Given the description of an element on the screen output the (x, y) to click on. 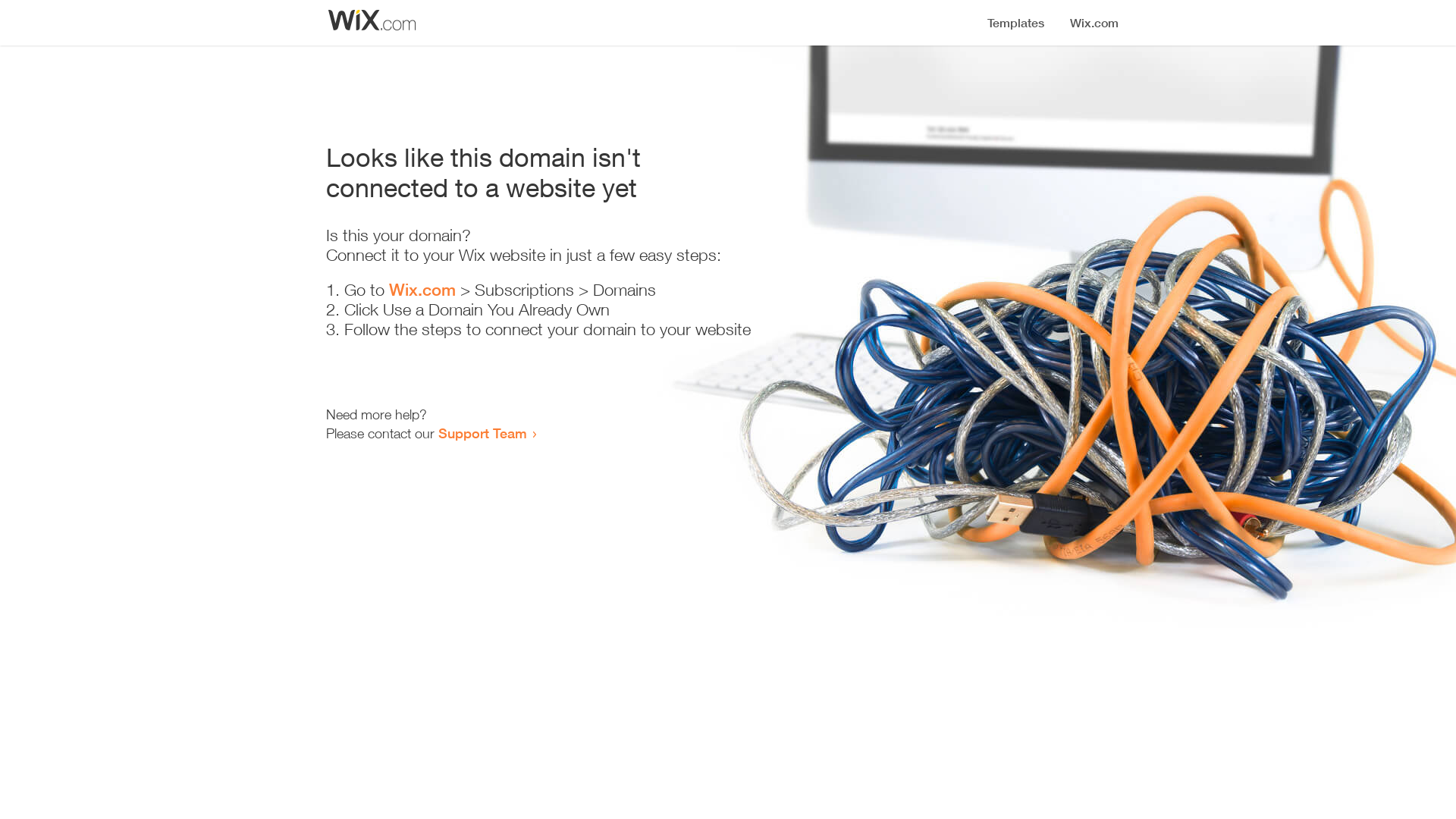
Wix.com Element type: text (422, 289)
Support Team Element type: text (482, 432)
